Given the description of an element on the screen output the (x, y) to click on. 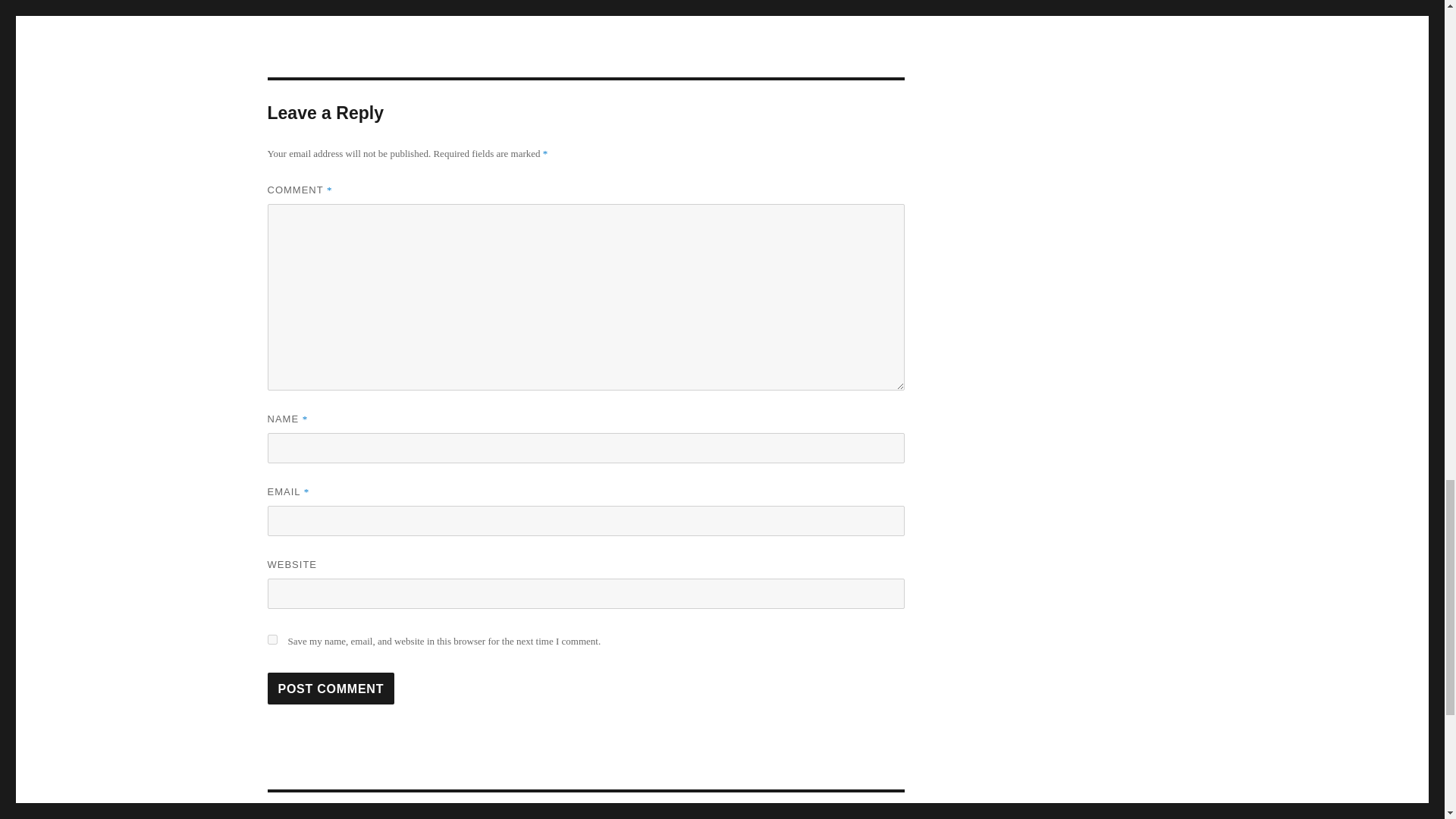
Post Comment (330, 688)
yes (271, 639)
Post Comment (330, 688)
